Given the description of an element on the screen output the (x, y) to click on. 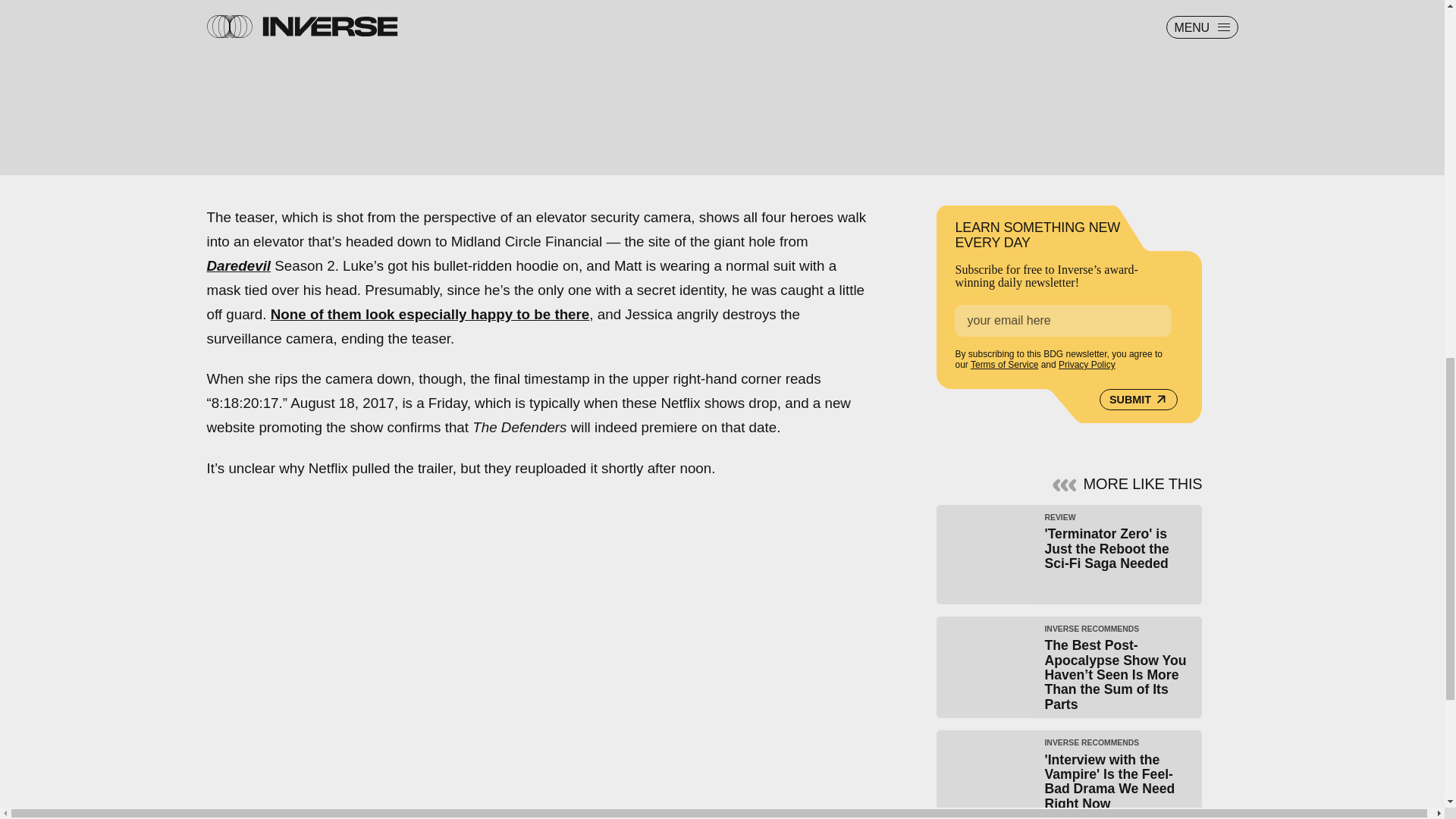
Privacy Policy (1086, 364)
Terms of Service (1004, 364)
None of them look especially happy to be there (429, 314)
SUBMIT (1138, 399)
Daredevil (238, 265)
